Given the description of an element on the screen output the (x, y) to click on. 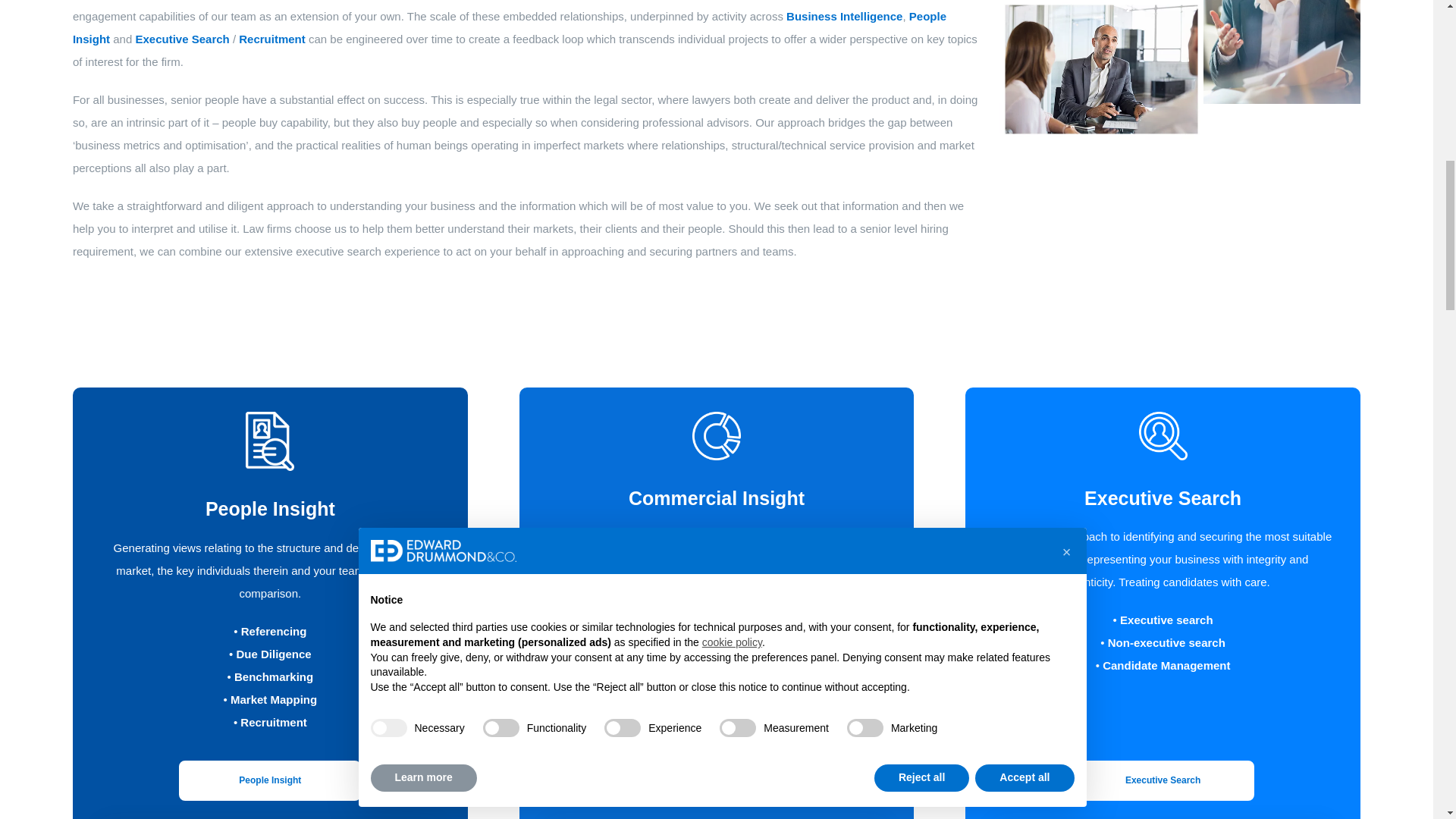
Magnifying Glass Icon (1163, 435)
Pie Chart Icon (717, 435)
